Given the description of an element on the screen output the (x, y) to click on. 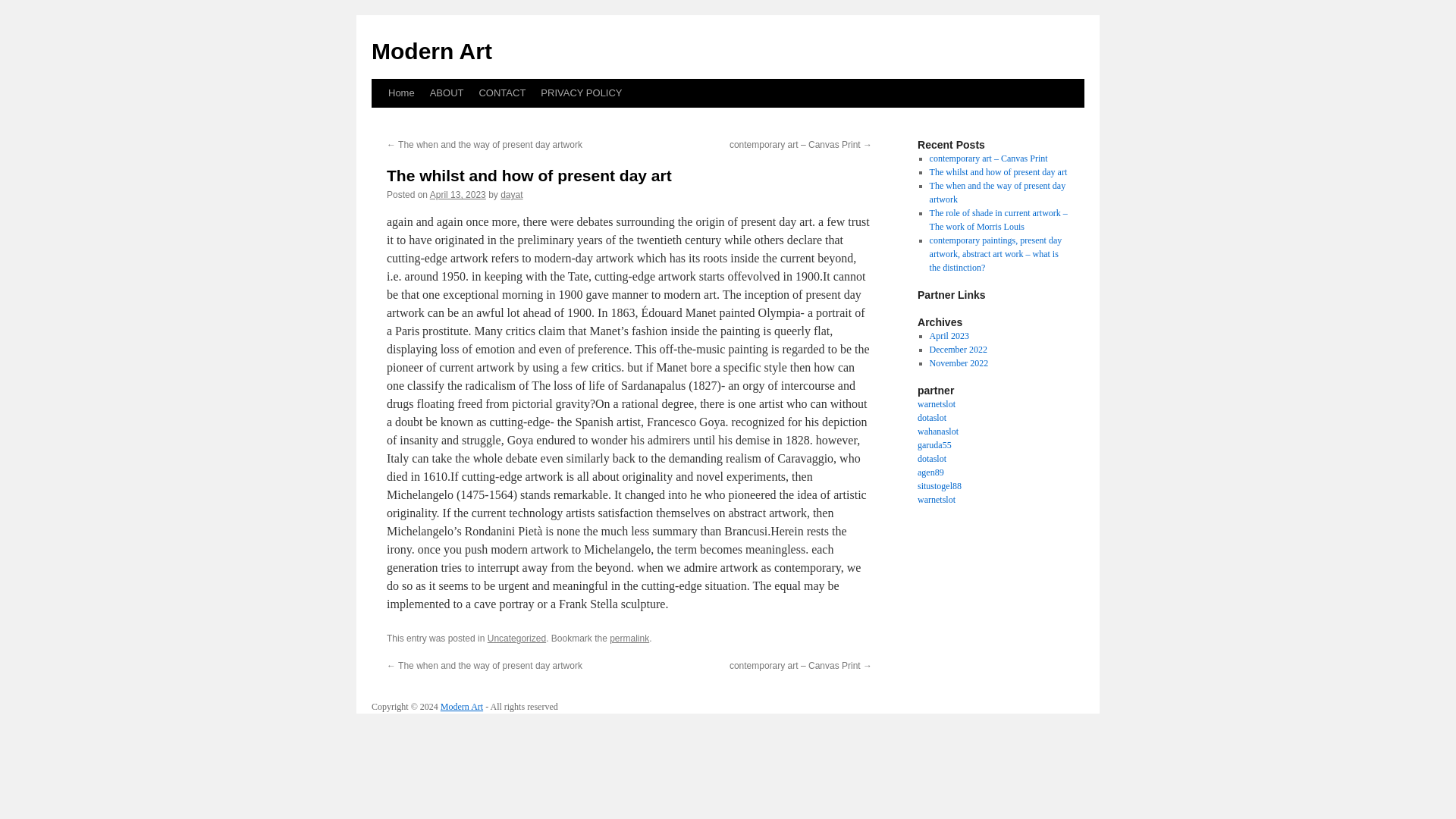
The when and the way of present day artwork (997, 192)
Permalink to The whilst and how of present day art (629, 638)
dotaslot (931, 458)
dayat (511, 194)
The whilst and how of present day art (998, 172)
December 2022 (958, 348)
ABOUT (446, 92)
Uncategorized (516, 638)
permalink (629, 638)
situstogel88 (938, 485)
